Given the description of an element on the screen output the (x, y) to click on. 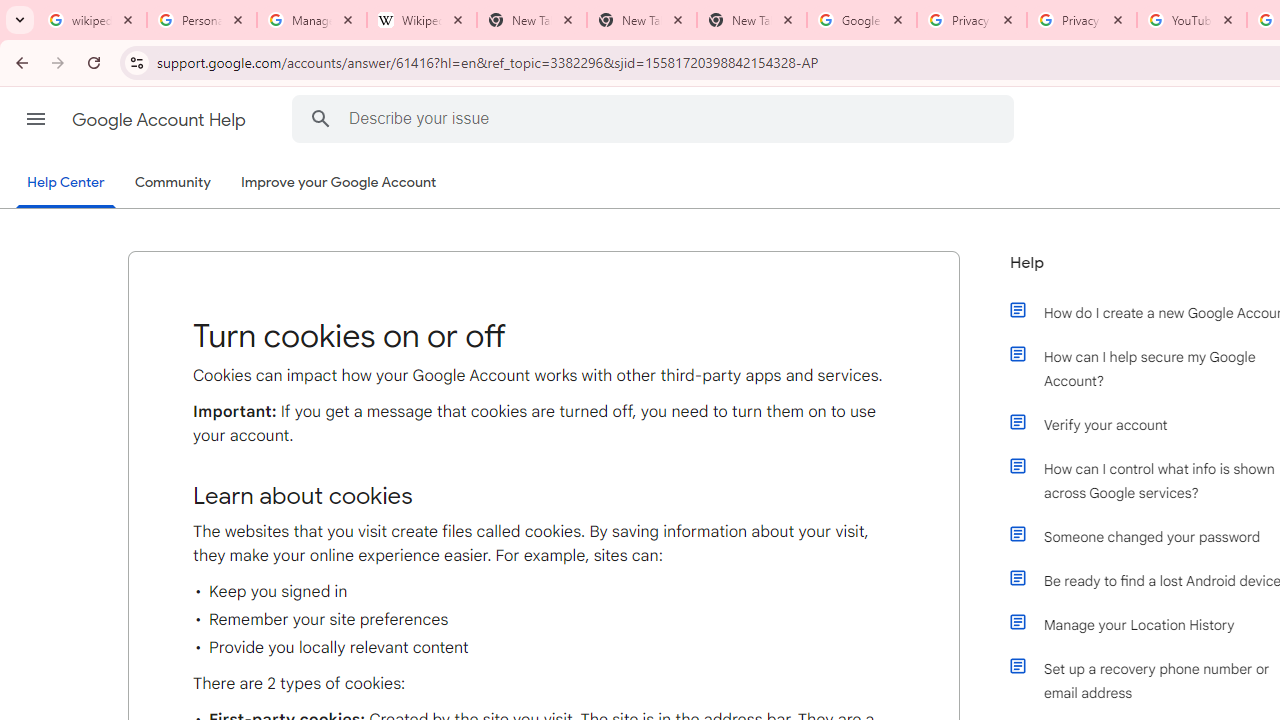
Wikipedia:Edit requests - Wikipedia (422, 20)
New Tab (752, 20)
Community (171, 183)
Google Account Help (160, 119)
Google Drive: Sign-in (861, 20)
Manage your Location History - Google Search Help (312, 20)
